Given the description of an element on the screen output the (x, y) to click on. 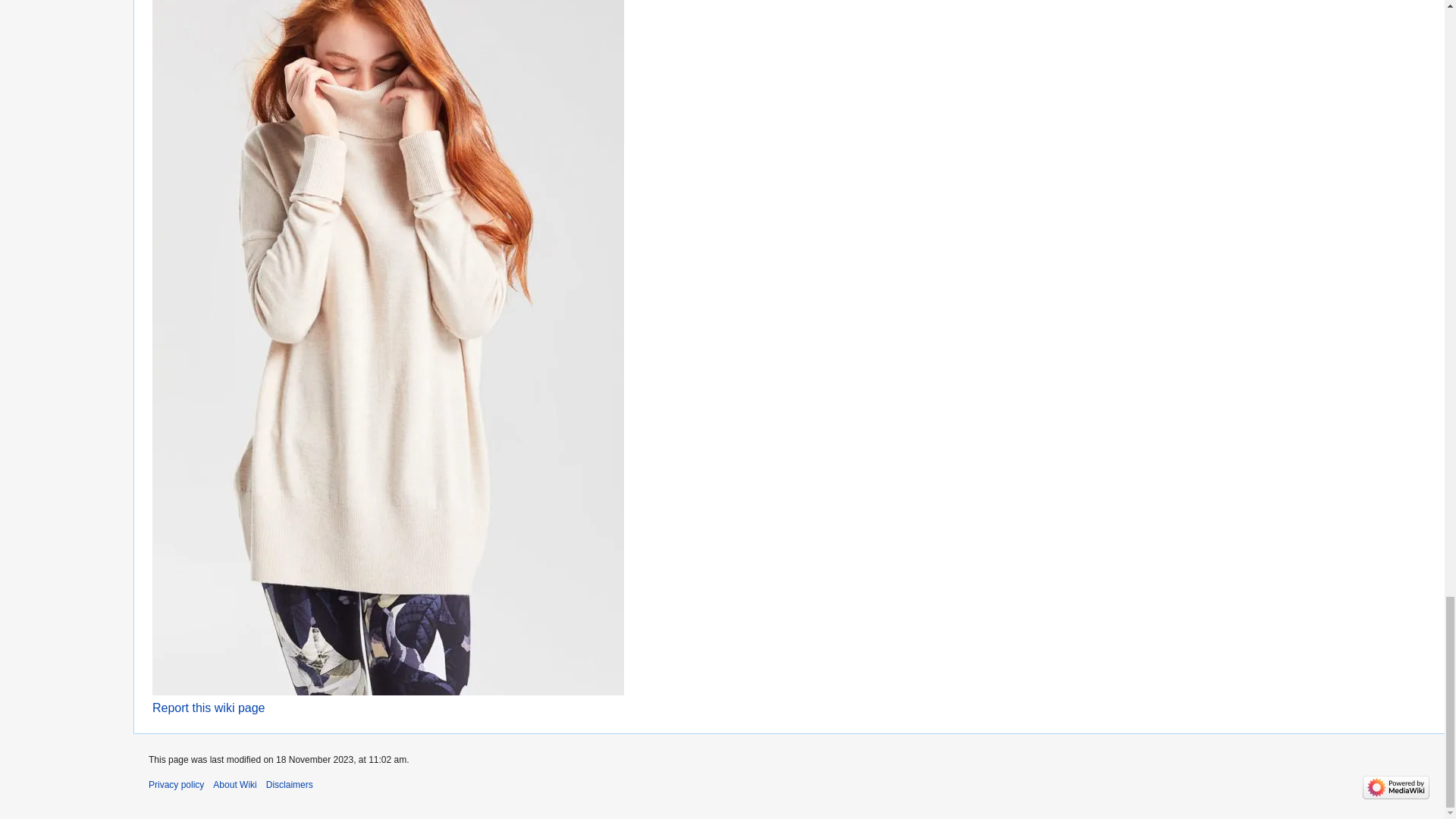
Privacy policy (175, 784)
Disclaimers (289, 784)
About Wiki (234, 784)
Report this wiki page (208, 707)
